Given the description of an element on the screen output the (x, y) to click on. 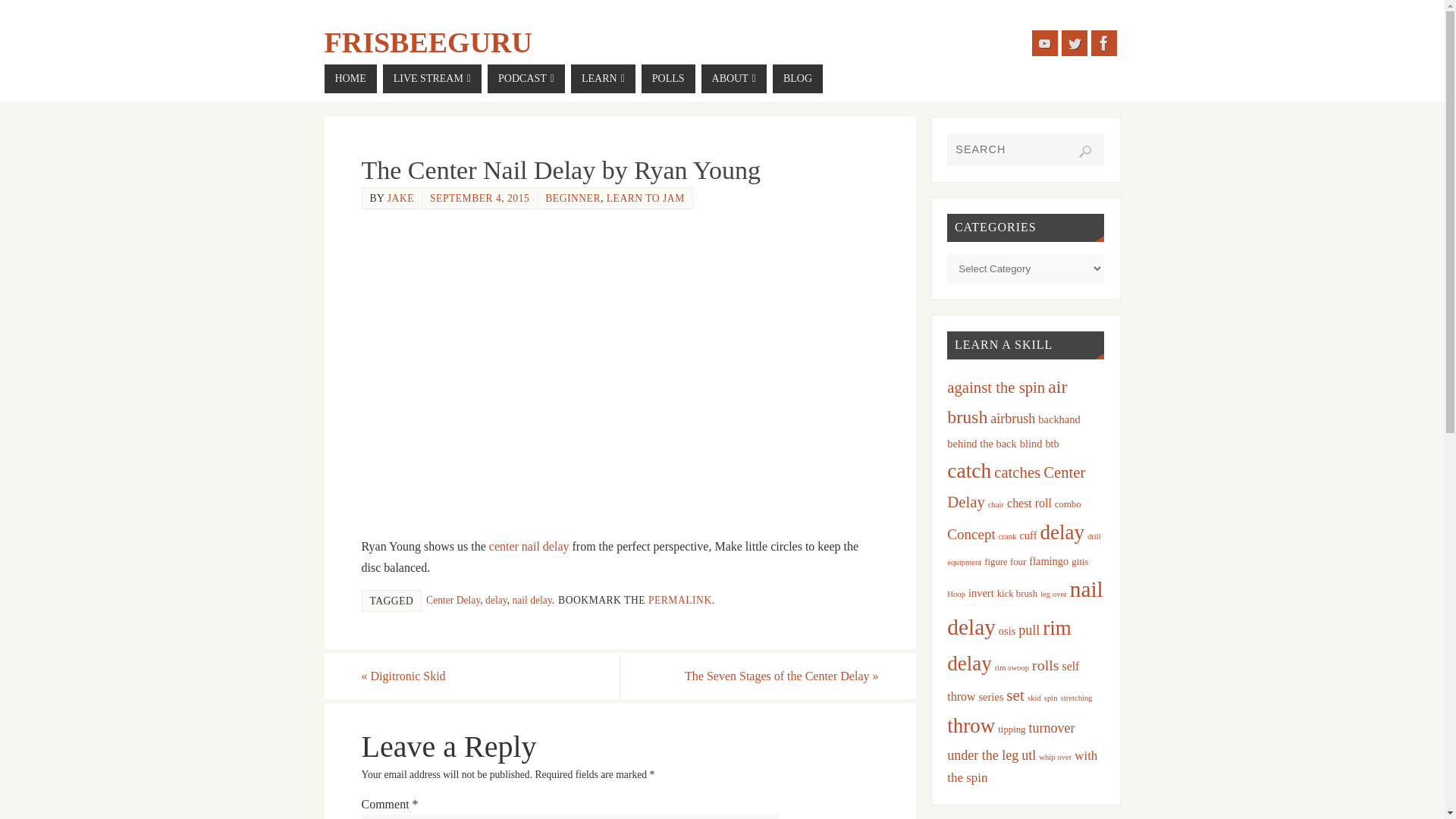
LIVE STREAM (431, 78)
BEGINNER (571, 197)
airbrush (1012, 418)
FrisbeeGuru (428, 42)
View all posts by Jake (400, 197)
Permalink to The Center Nail Delay by Ryan Young (679, 600)
BLOG (797, 78)
Center Delay (453, 600)
against the spin (996, 387)
YouTube (1043, 43)
HOME (350, 78)
PERMALINK (679, 600)
air brush (1007, 401)
LEARN (602, 78)
behind the back (981, 443)
